Given the description of an element on the screen output the (x, y) to click on. 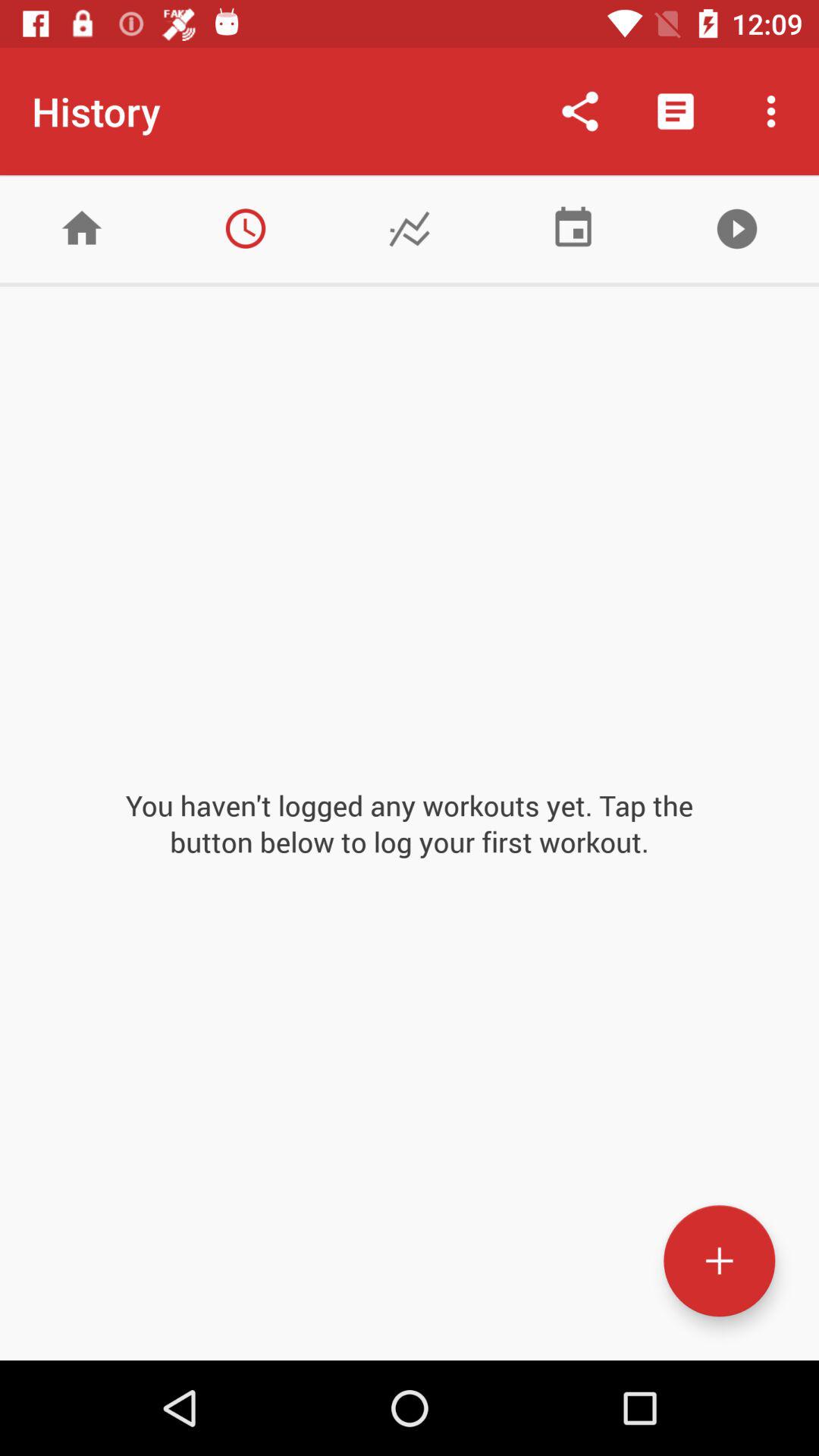
choose the item below history app (245, 228)
